Given the description of an element on the screen output the (x, y) to click on. 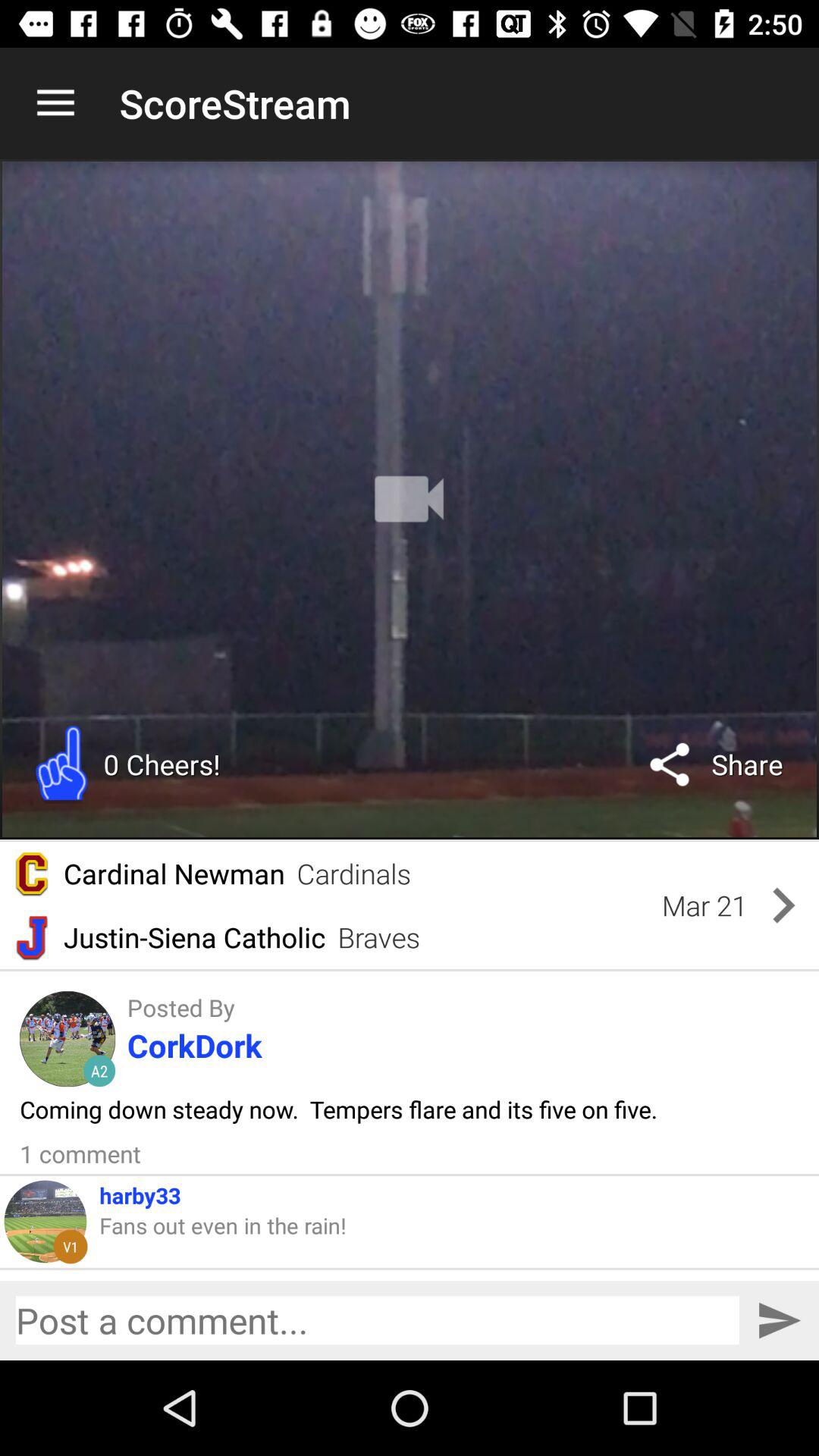
enter (779, 1320)
